Given the description of an element on the screen output the (x, y) to click on. 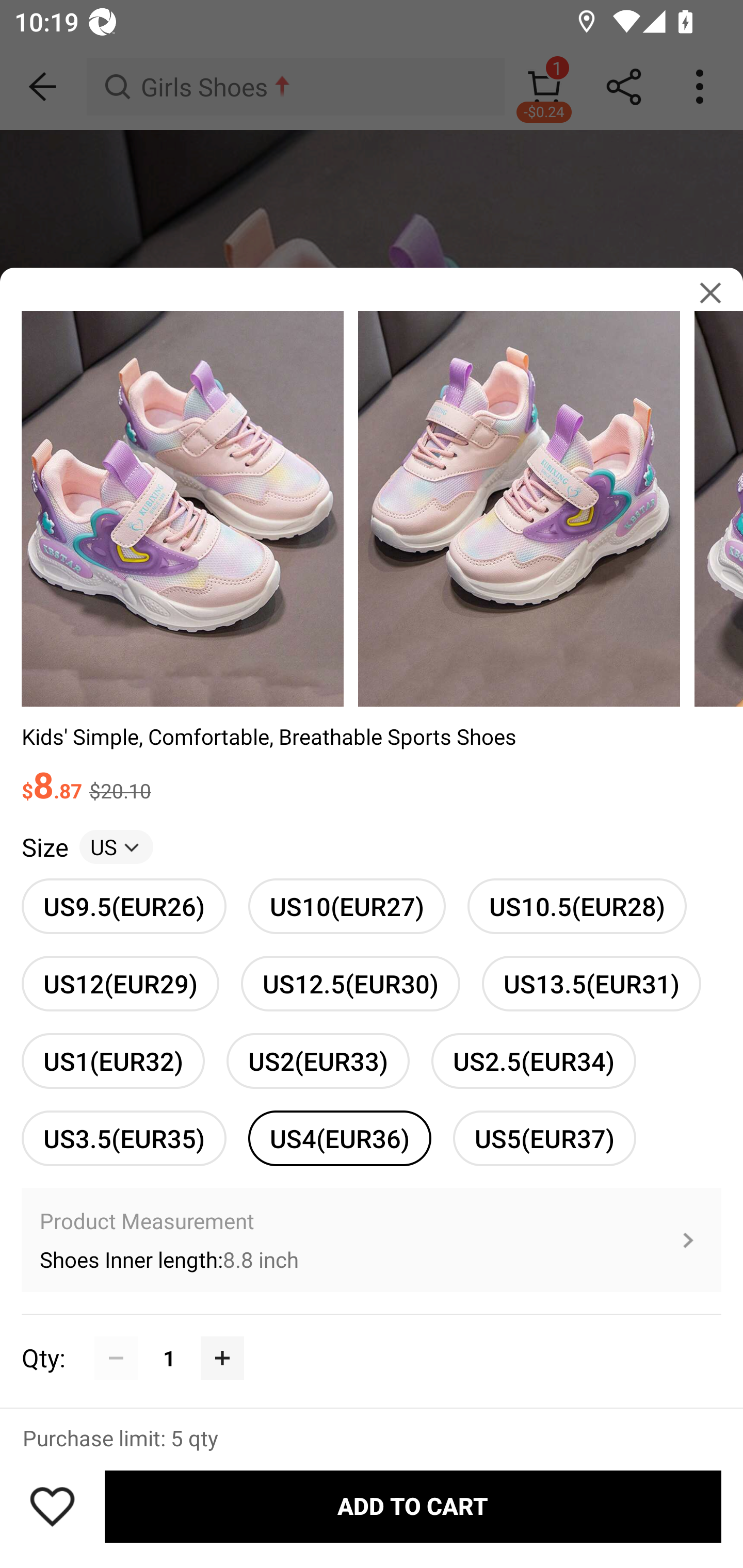
Size (44, 846)
US (116, 846)
US9.5(EUR26) US9.5(EUR26)unselected option (123, 906)
US10(EUR27) US10(EUR27)unselected option (346, 906)
US10.5(EUR28) US10.5(EUR28)unselected option (576, 906)
US12(EUR29) US12(EUR29)unselected option (120, 983)
US12.5(EUR30) US12.5(EUR30)unselected option (349, 983)
US13.5(EUR31) US13.5(EUR31)unselected option (591, 983)
US1(EUR32) US1(EUR32)unselected option (113, 1060)
US2(EUR33) US2(EUR33)unselected option (317, 1060)
US2.5(EUR34) US2.5(EUR34)unselected option (533, 1060)
US3.5(EUR35) US3.5(EUR35)unselected option (123, 1138)
US4(EUR36) US4(EUR36)selected option (339, 1138)
US5(EUR37) US5(EUR37)unselected option (544, 1138)
Product Measurement Shoes Inner length:8.8 inch (371, 1240)
ADD TO CART (412, 1506)
Save (52, 1505)
